Given the description of an element on the screen output the (x, y) to click on. 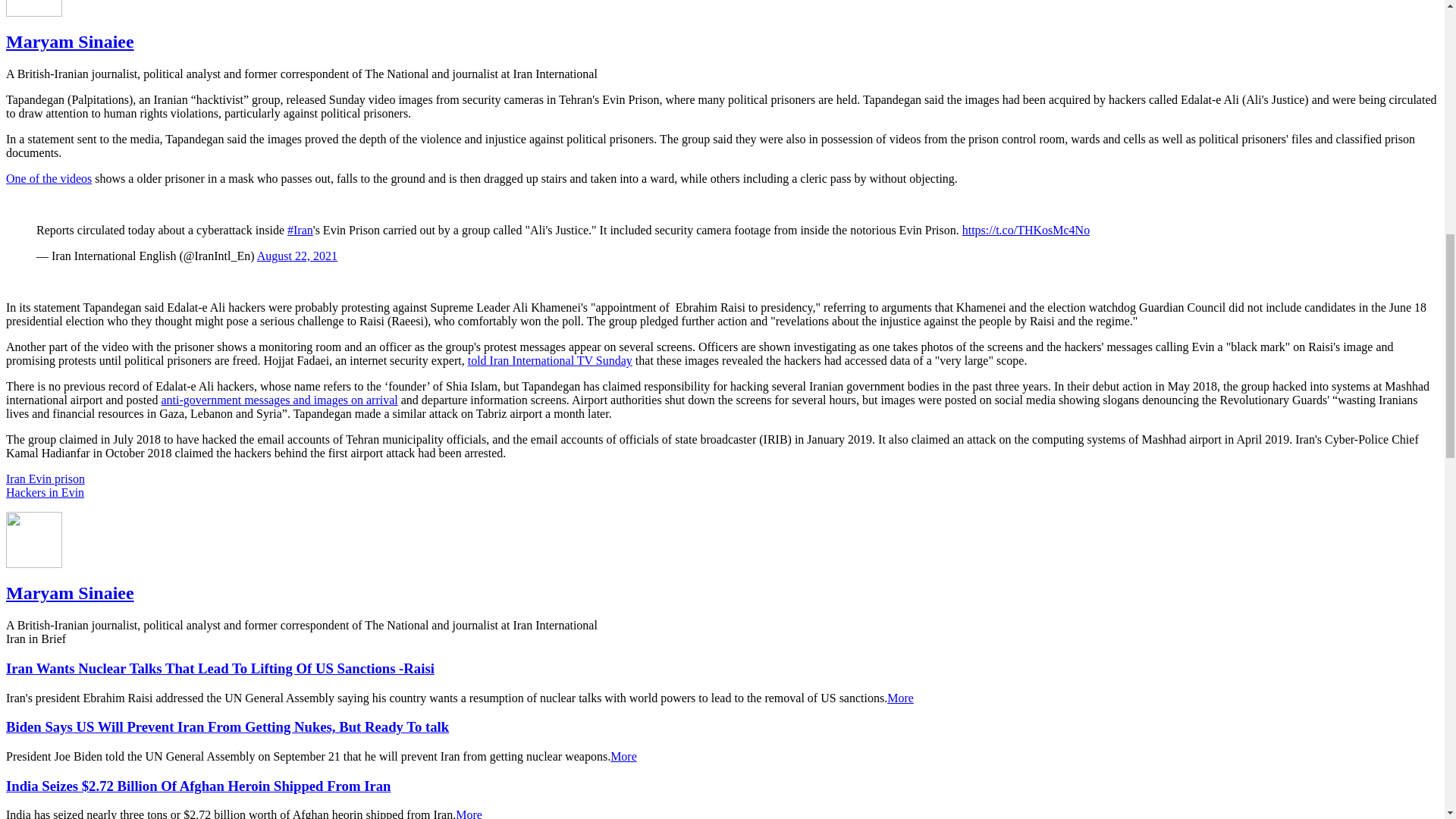
One of the videos (48, 178)
told Iran International TV Sunday (549, 359)
Hackers in Evin (44, 492)
Maryam Sinaiee (69, 41)
Iran Evin prison (44, 478)
August 22, 2021 (297, 255)
anti-government messages and images on arrival (278, 399)
